Given the description of an element on the screen output the (x, y) to click on. 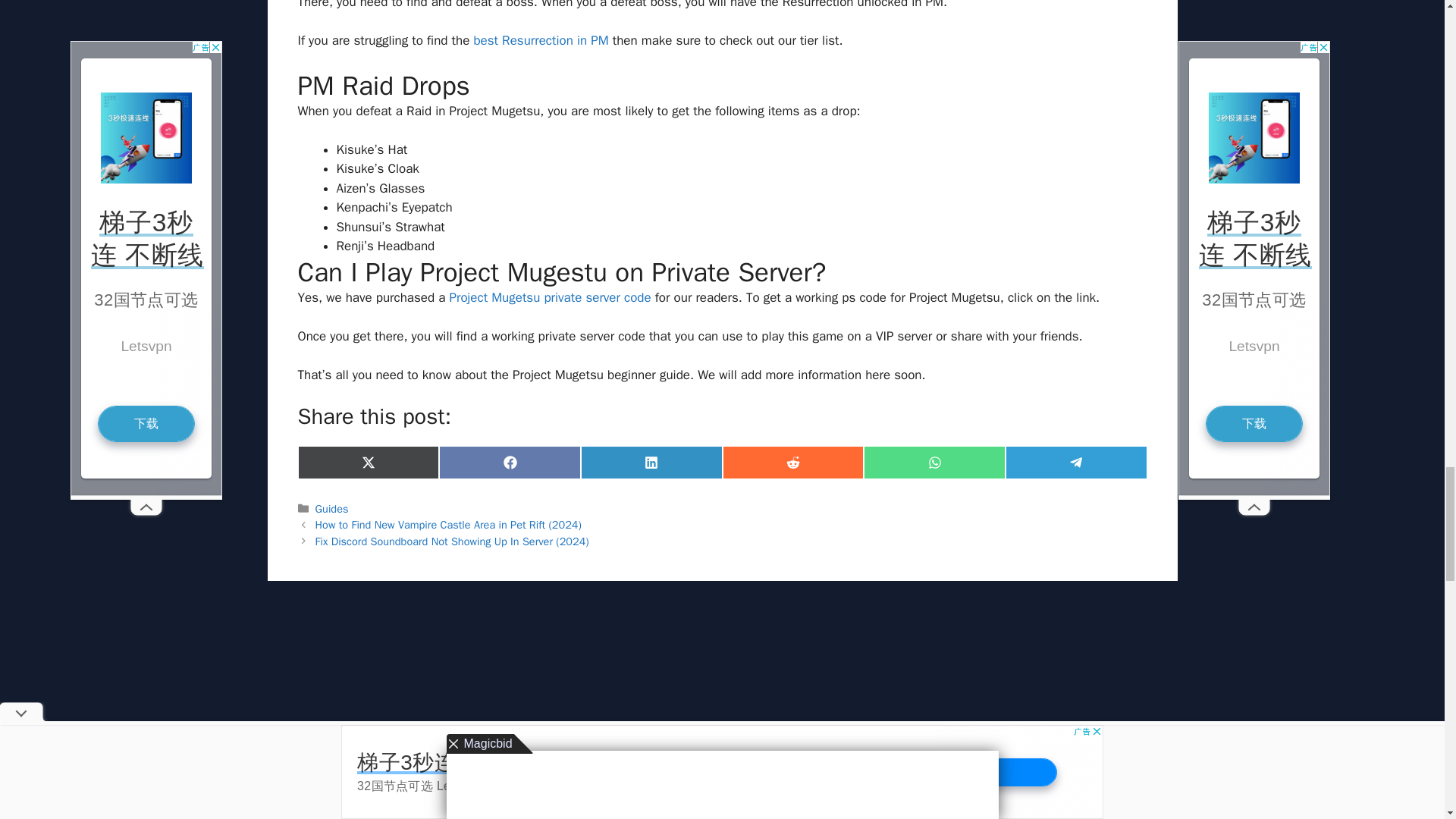
best Resurrection in PM (540, 40)
